Given the description of an element on the screen output the (x, y) to click on. 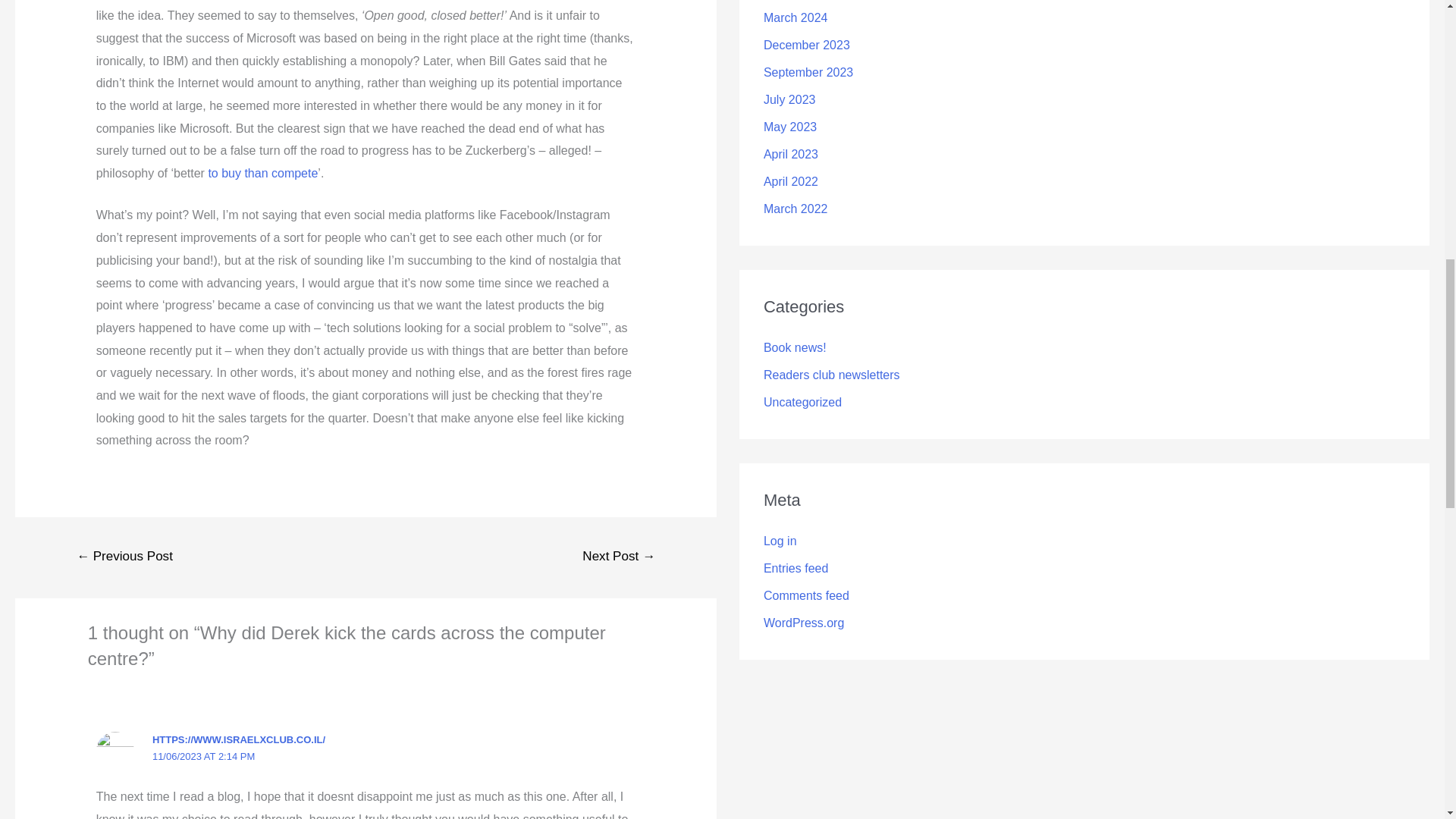
to buy than compete (262, 173)
